Given the description of an element on the screen output the (x, y) to click on. 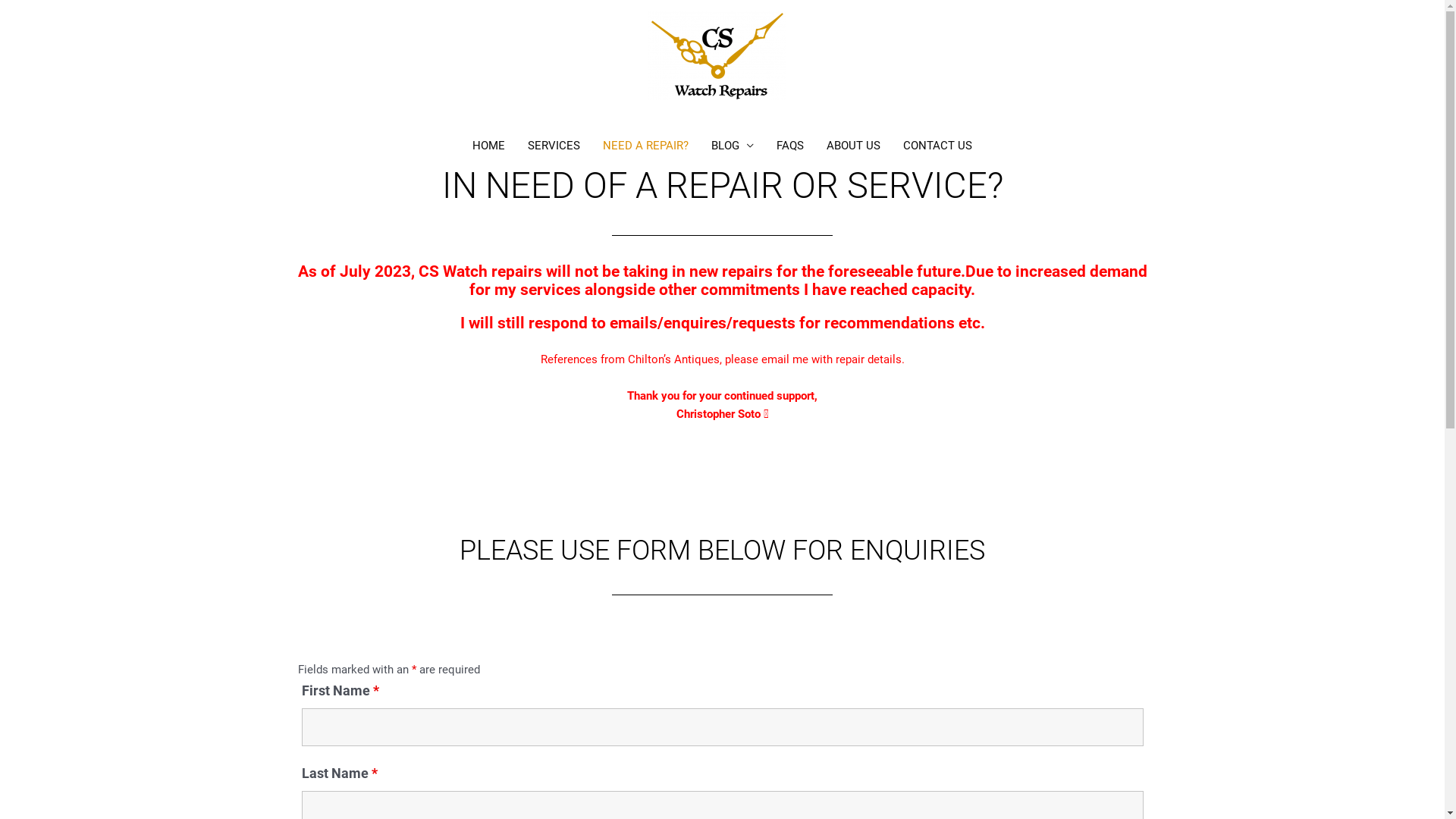
SERVICES Element type: text (553, 145)
HOME Element type: text (488, 145)
ABOUT US Element type: text (853, 145)
NEED A REPAIR? Element type: text (645, 145)
FAQS Element type: text (790, 145)
CONTACT US Element type: text (937, 145)
BLOG Element type: text (732, 145)
